Given the description of an element on the screen output the (x, y) to click on. 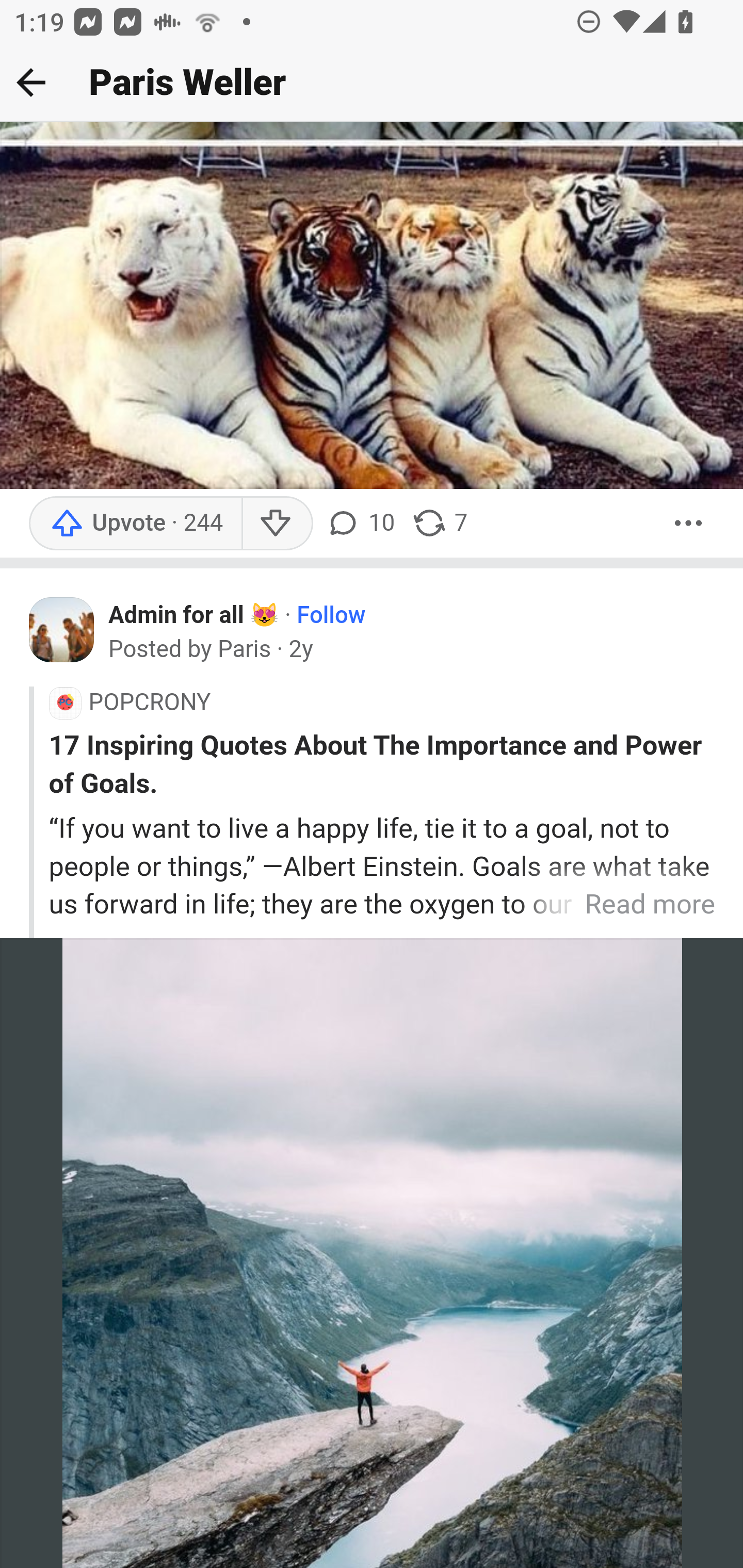
Back (30, 82)
Upvote (135, 523)
Downvote (277, 523)
10 comments (363, 523)
7 shares (439, 523)
More (688, 523)
Icon for Admin for all 😻 (61, 629)
Admin for all 😻 (193, 616)
Follow (331, 616)
Icon for POPCRONY (64, 703)
